Given the description of an element on the screen output the (x, y) to click on. 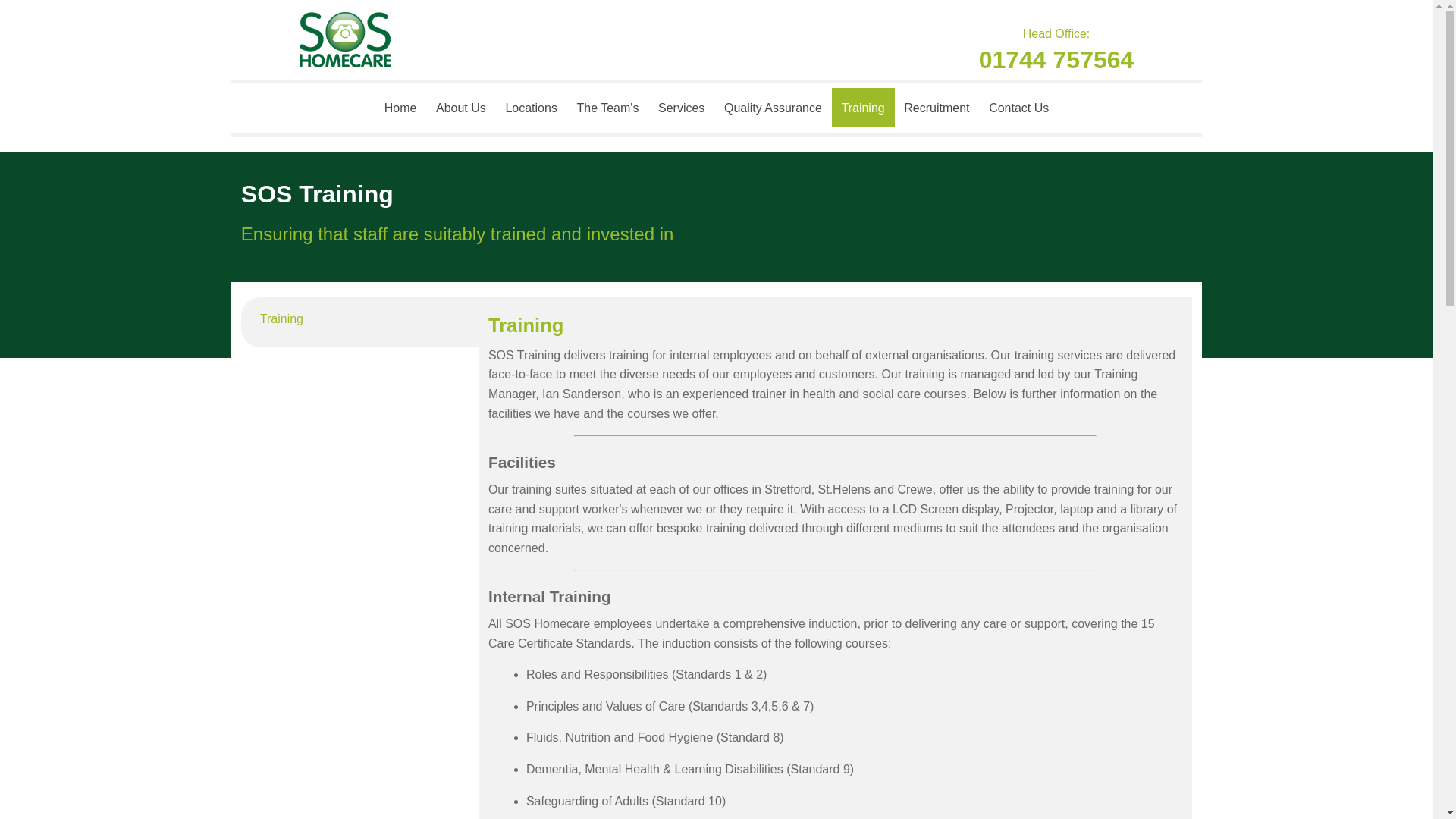
Training (863, 107)
The Team's (608, 107)
Quality Assurance (772, 107)
Home (400, 107)
Recruitment (937, 107)
Contact Us (1018, 107)
Training (271, 318)
Services (680, 107)
About Us (460, 107)
Locations (531, 107)
